Given the description of an element on the screen output the (x, y) to click on. 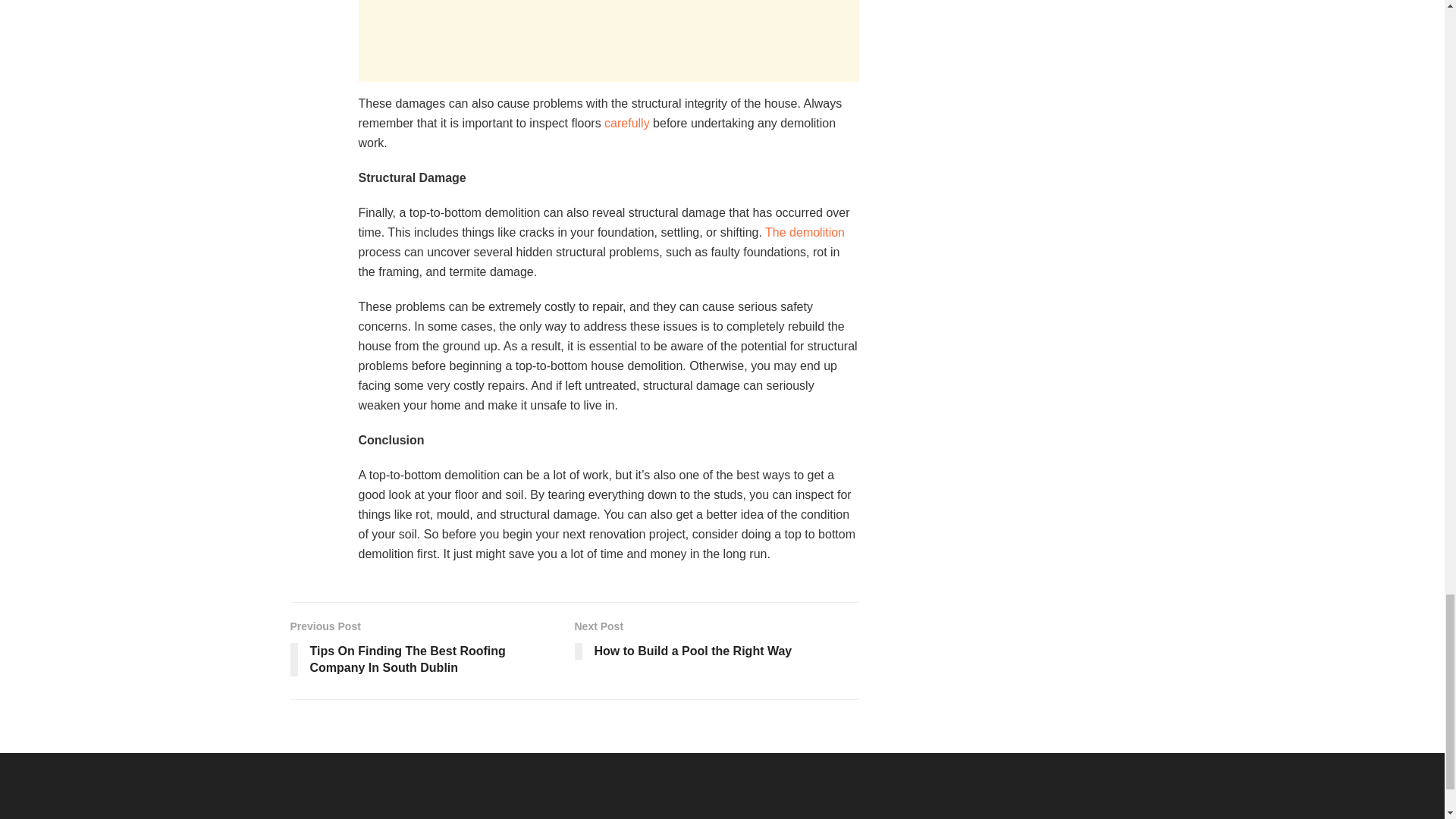
Advertisement (608, 40)
